Given the description of an element on the screen output the (x, y) to click on. 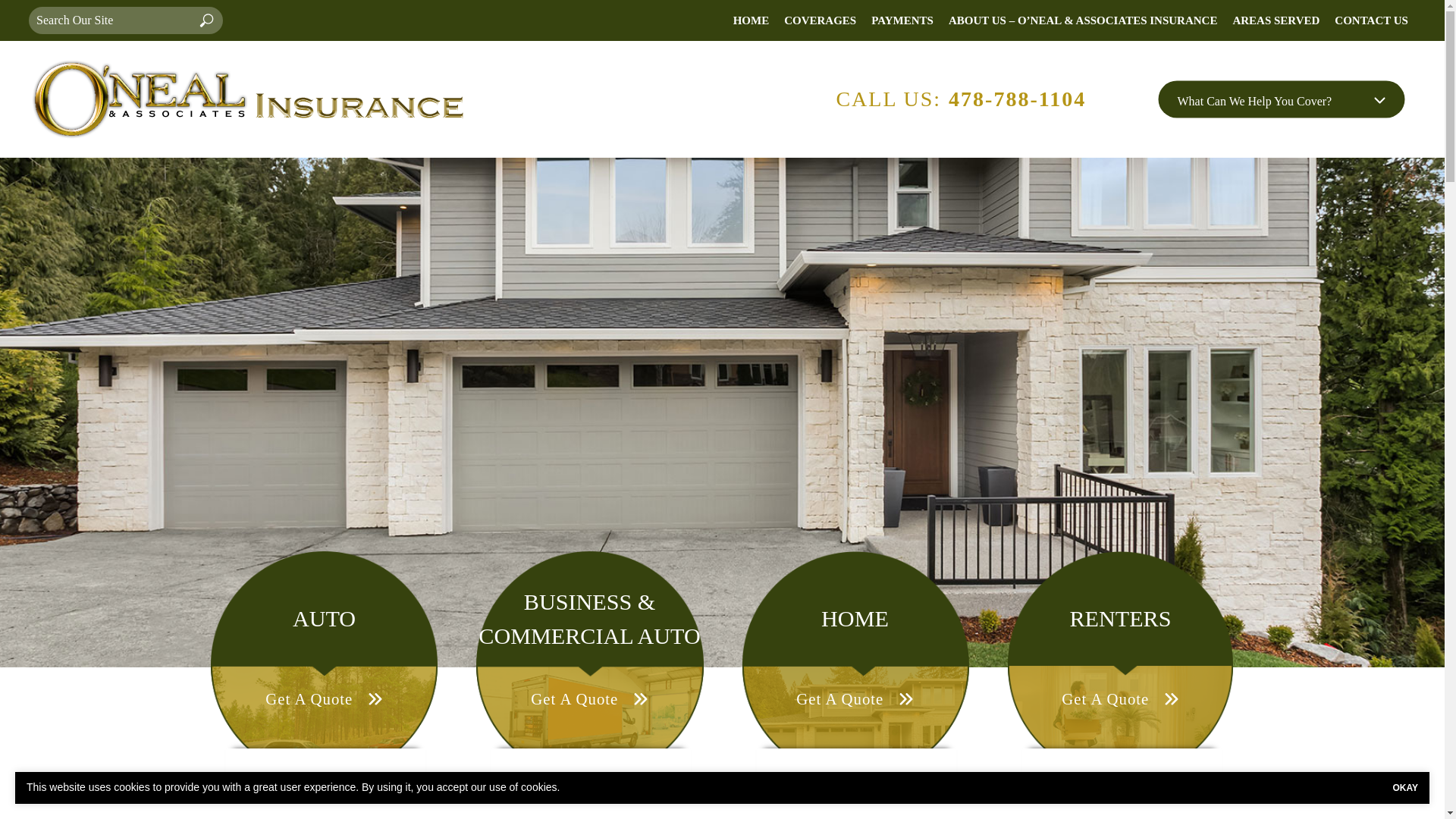
HOME (751, 20)
AREAS SERVED (1275, 20)
PAYMENTS (901, 20)
COVERAGES (819, 20)
Search (205, 20)
